Given the description of an element on the screen output the (x, y) to click on. 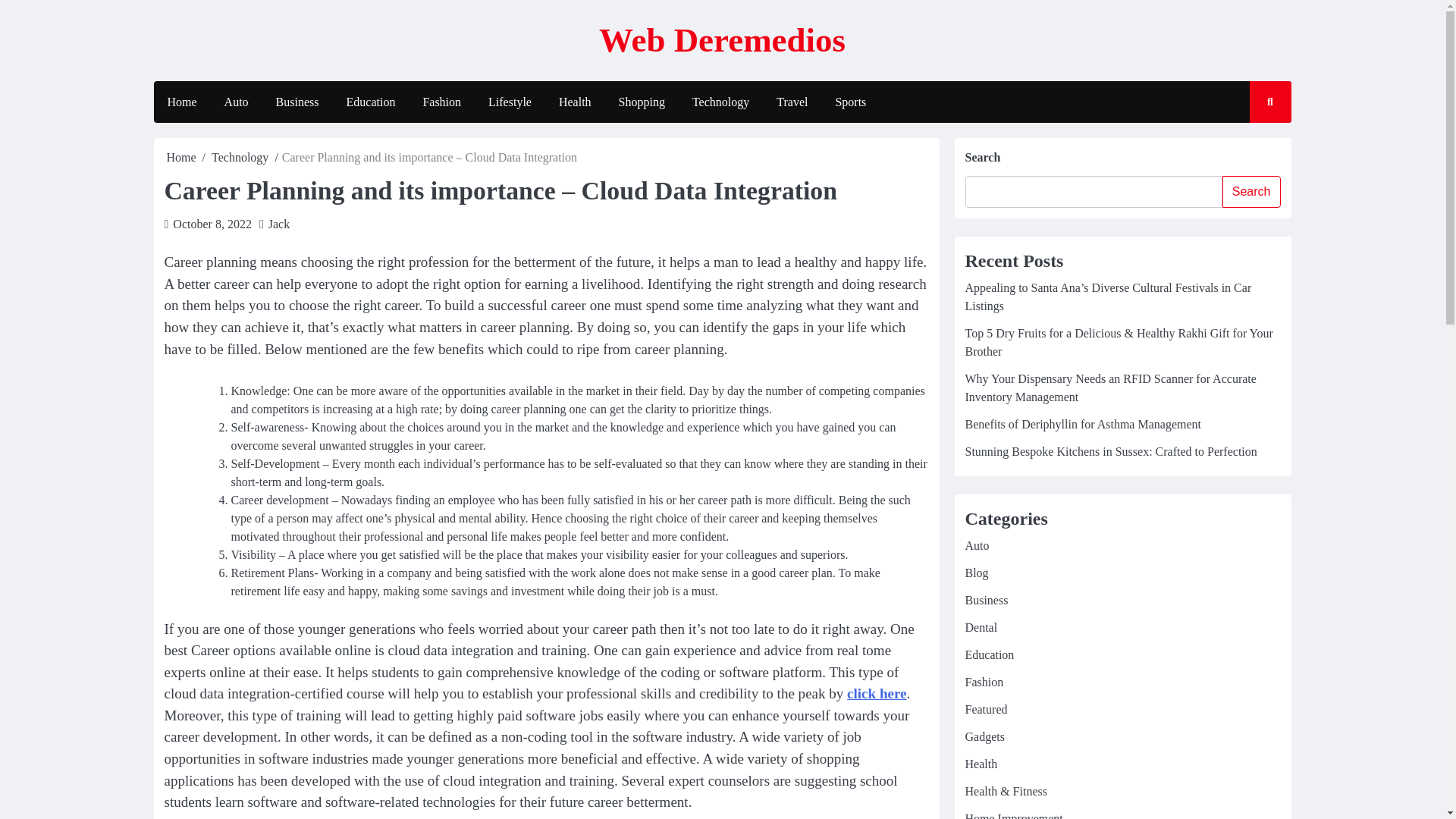
Benefits of Deriphyllin for Asthma Management (1081, 423)
Travel (791, 102)
Blog (975, 572)
Dental (980, 626)
Home (180, 102)
Search (1256, 145)
Health (574, 102)
Shopping (641, 102)
Lifestyle (509, 102)
Stunning Bespoke Kitchens in Sussex: Crafted to Perfection (1109, 451)
Education (988, 654)
Technology (720, 102)
Home (181, 156)
Education (371, 102)
